Given the description of an element on the screen output the (x, y) to click on. 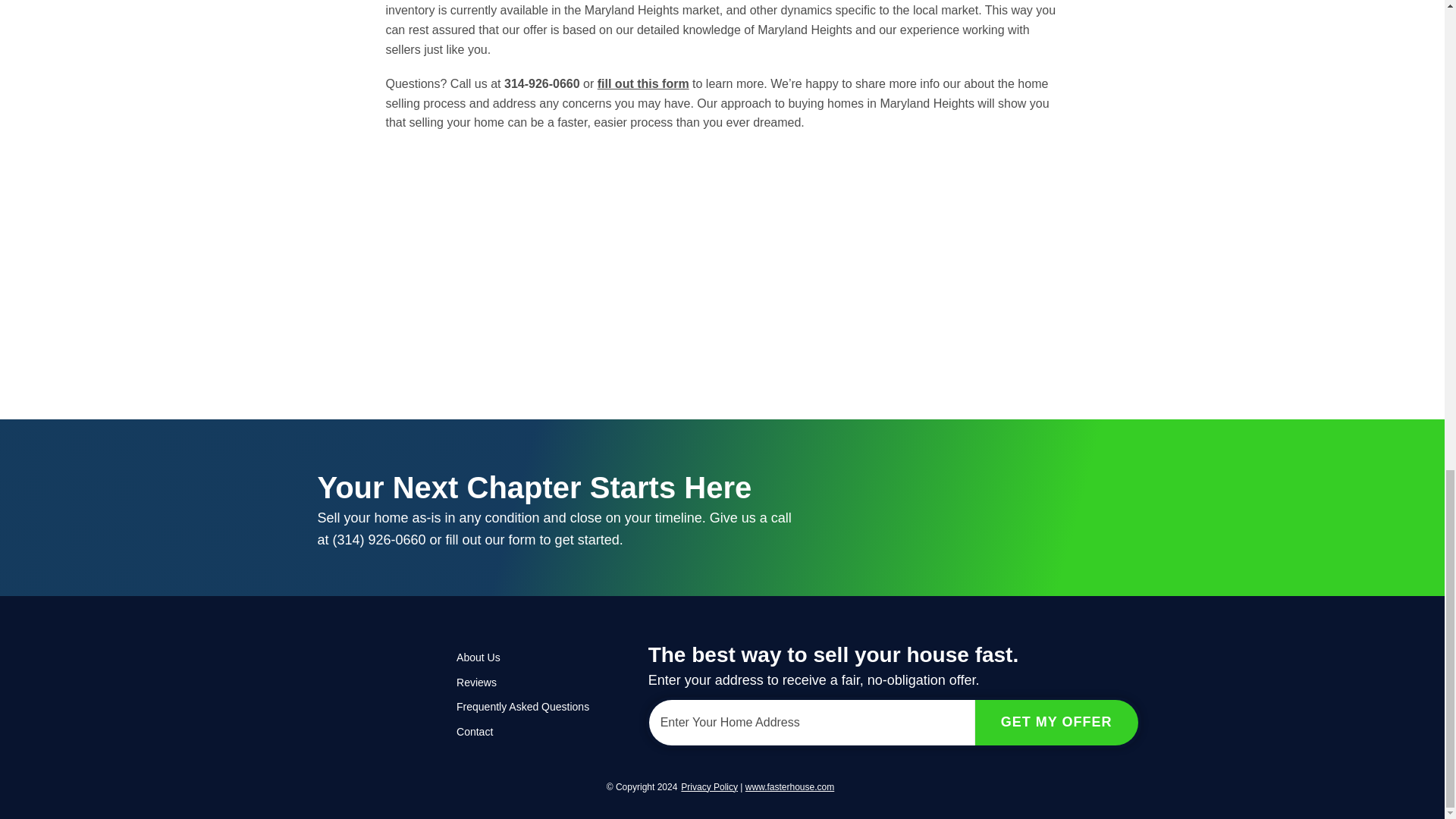
Get My Offer (1056, 722)
Privacy Policy (709, 787)
Frequently Asked Questions (533, 706)
fill out this form (642, 83)
About Us (533, 657)
Get My Offer (1056, 722)
sell property (789, 787)
www.fasterhouse.com (789, 787)
Reviews (533, 682)
Contact (533, 731)
